Given the description of an element on the screen output the (x, y) to click on. 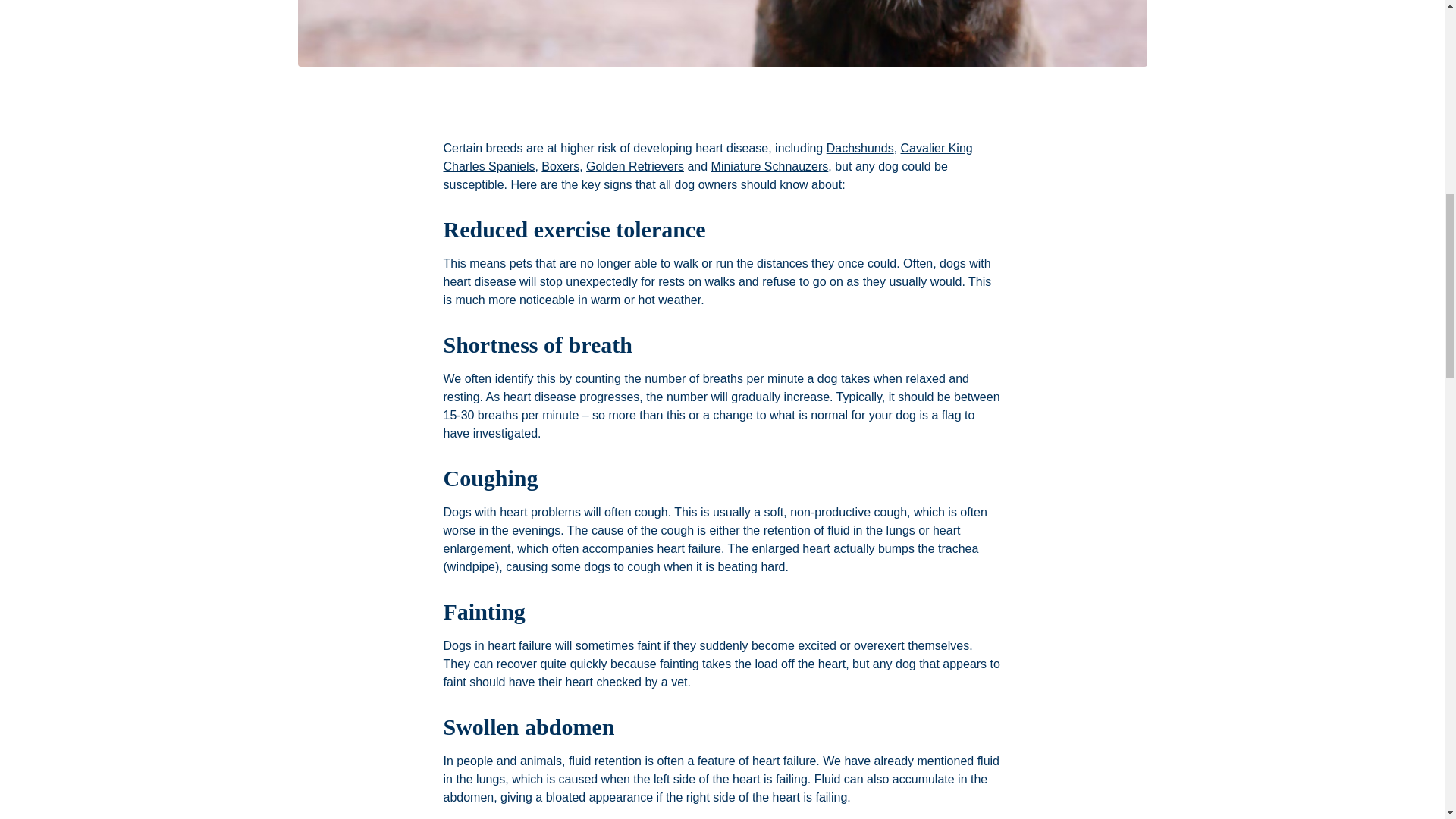
Miniature Schnauzers (769, 165)
Boxers (560, 165)
Boxer Dog Insurance (560, 165)
Miniature Schnauzer Insurance (769, 165)
Dachshunds (860, 147)
Golden Retrievers (635, 165)
Cavalier King Charles Spaniel Insurance (707, 156)
Cavalier King Charles Spaniels (707, 156)
Dachshund Pet Insurance (860, 147)
Golden Retriever insurance (635, 165)
